Given the description of an element on the screen output the (x, y) to click on. 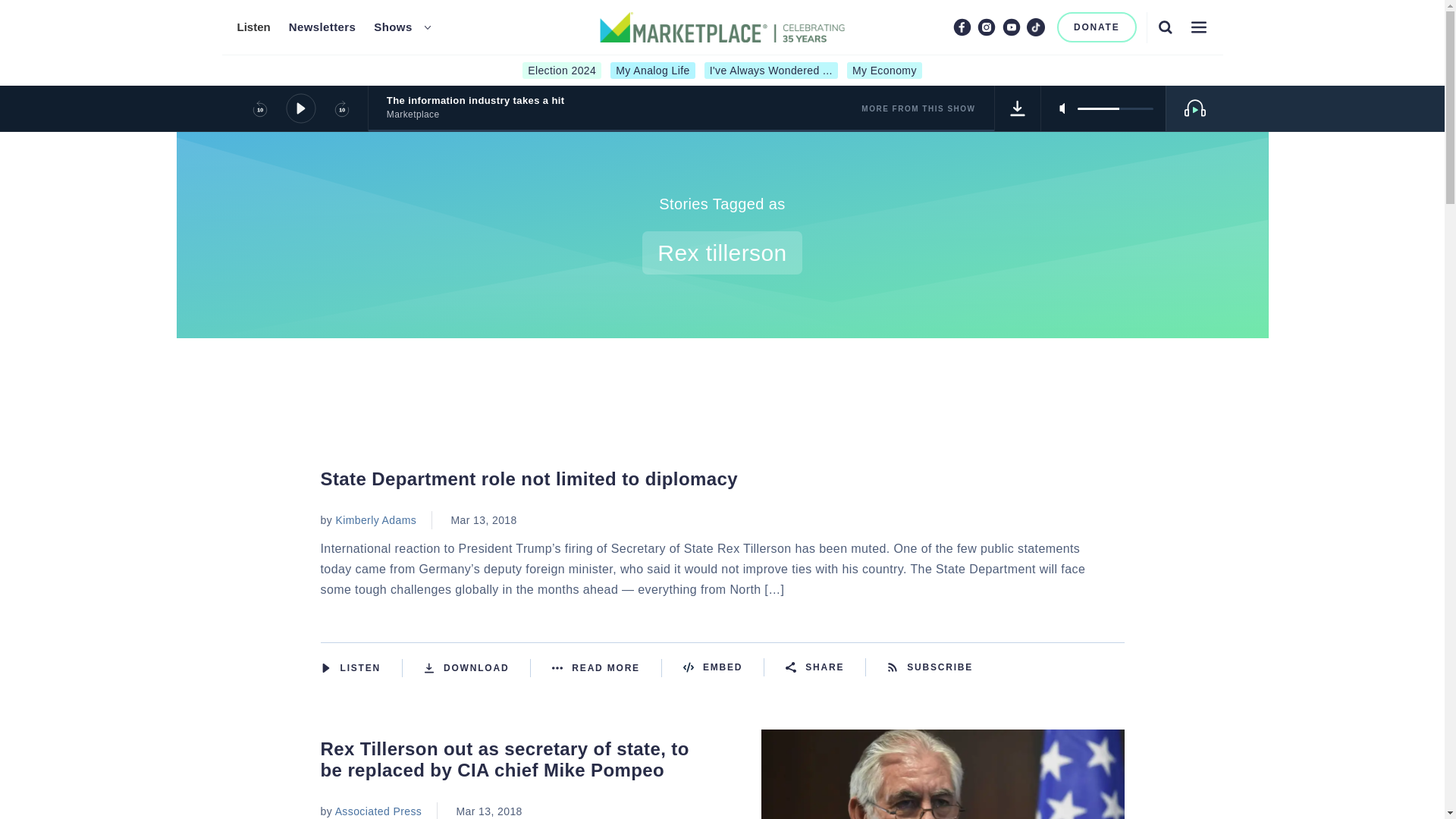
Read More (606, 668)
Youtube (1011, 27)
5 (1115, 108)
Listen (252, 26)
Facebook (962, 27)
Newsletters (322, 27)
Shows (393, 26)
Listen Now (360, 668)
volume (1115, 108)
Instagram (985, 27)
Menu (1198, 27)
Download Track (1017, 108)
TikTok (1035, 27)
Search (1164, 27)
